Given the description of an element on the screen output the (x, y) to click on. 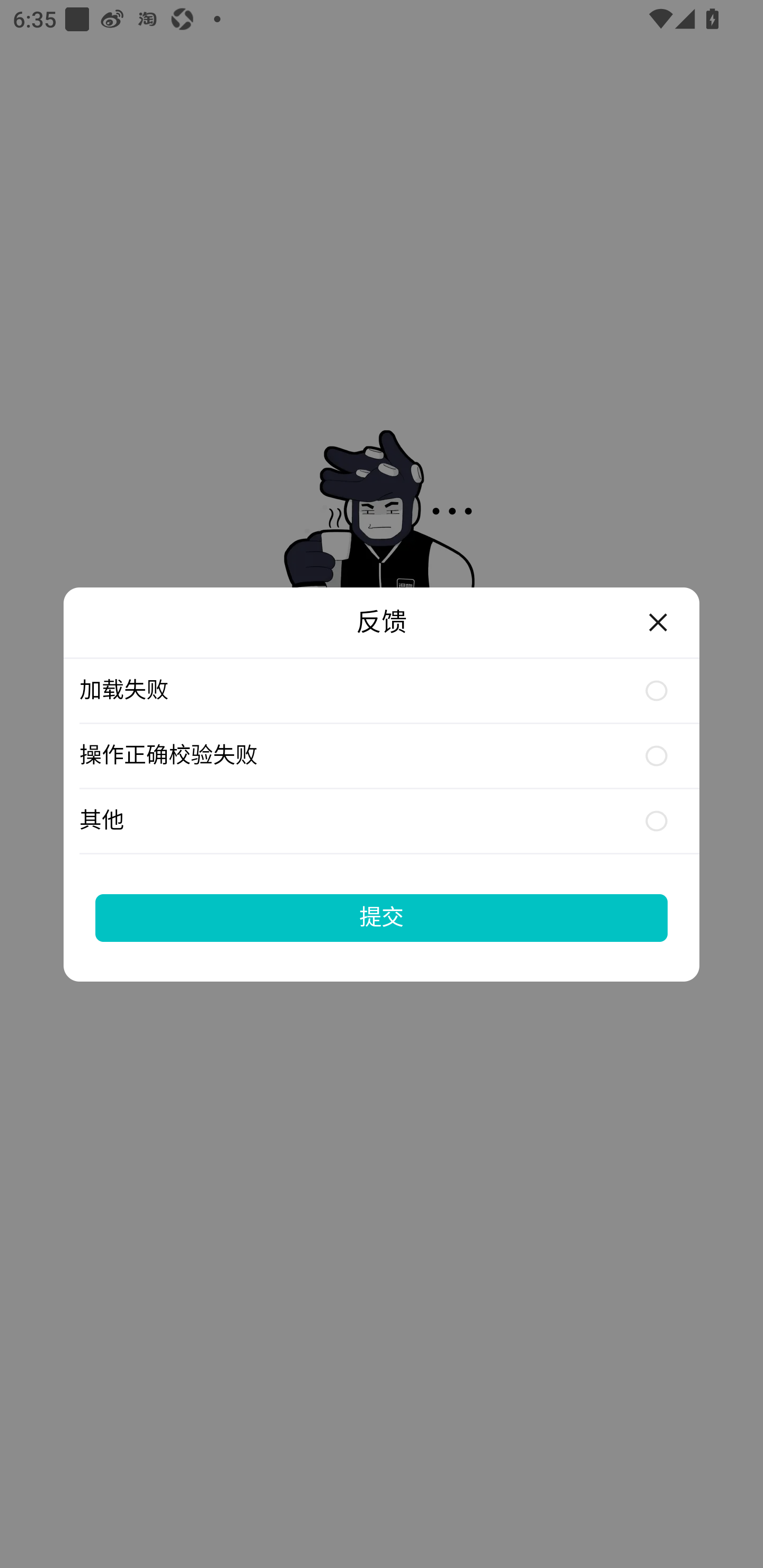
提交 (381, 917)
